Given the description of an element on the screen output the (x, y) to click on. 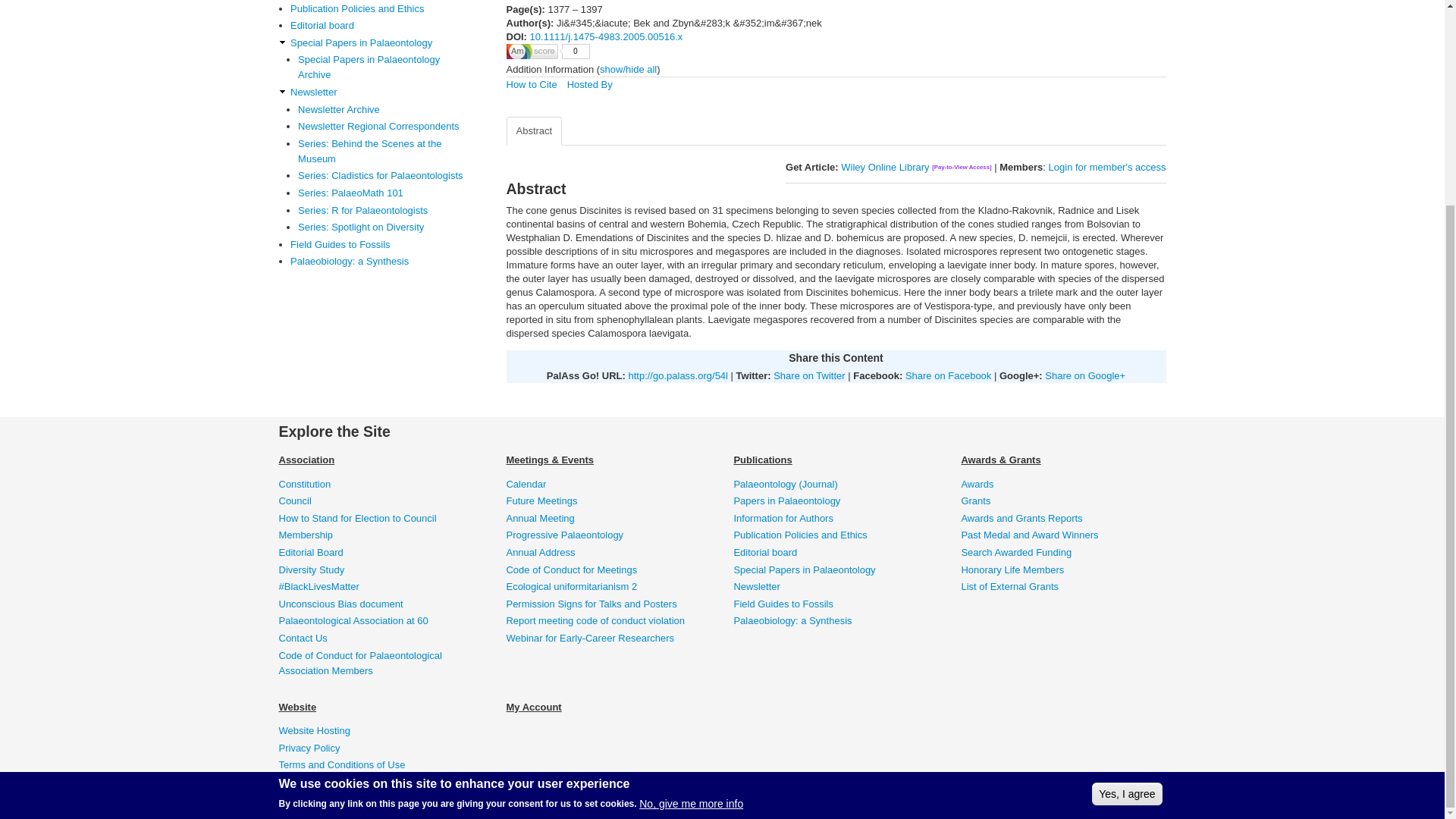
Special Papers in Palaeontology Archive (385, 67)
Series: Cladistics for Palaeontologists (385, 175)
Newsletter (384, 92)
Editorial board (384, 25)
Publication Policies and Ethics (384, 8)
Special Papers in Palaeontology (384, 43)
Series: PalaeoMath 101 (385, 192)
Series: Spotlight on Diversity (385, 227)
Series: R for Palaeontologists (385, 210)
Newsletter Regional Correspondents (385, 126)
Newsletter Archive (385, 109)
Series: Behind the Scenes at the Museum (385, 151)
Palaeobiology: a Synthesis (384, 261)
